Given the description of an element on the screen output the (x, y) to click on. 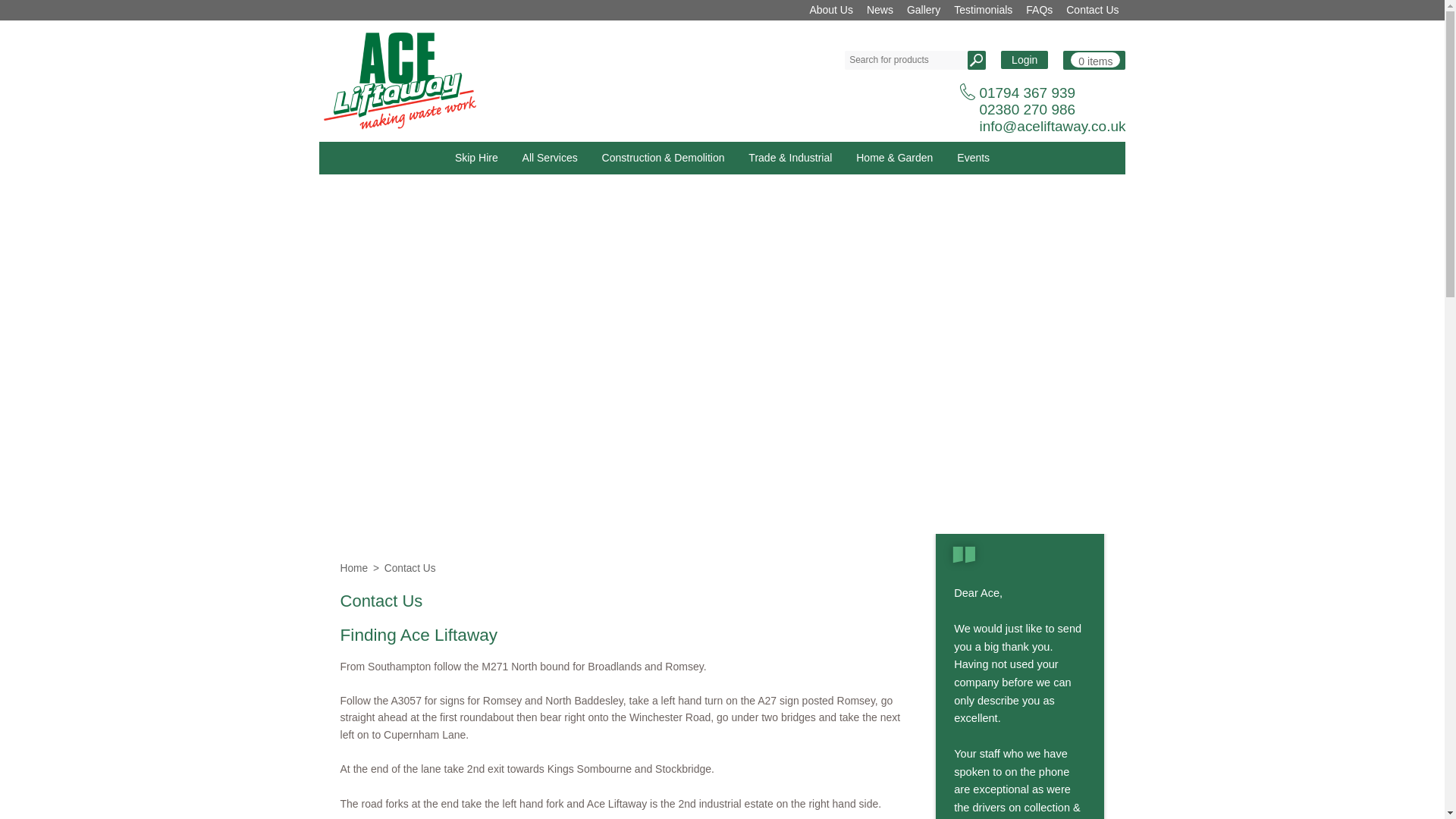
All Services (550, 157)
Login (1024, 59)
Contact Us (1092, 10)
Home (354, 568)
0 items (1093, 59)
Login (1024, 59)
Testimonials (983, 10)
View your shopping cart (1093, 59)
About Us (831, 10)
Search (976, 59)
Ace Liftaway (399, 80)
FAQs (1039, 10)
Skip Hire (476, 157)
Gallery (923, 10)
Events (973, 157)
